Given the description of an element on the screen output the (x, y) to click on. 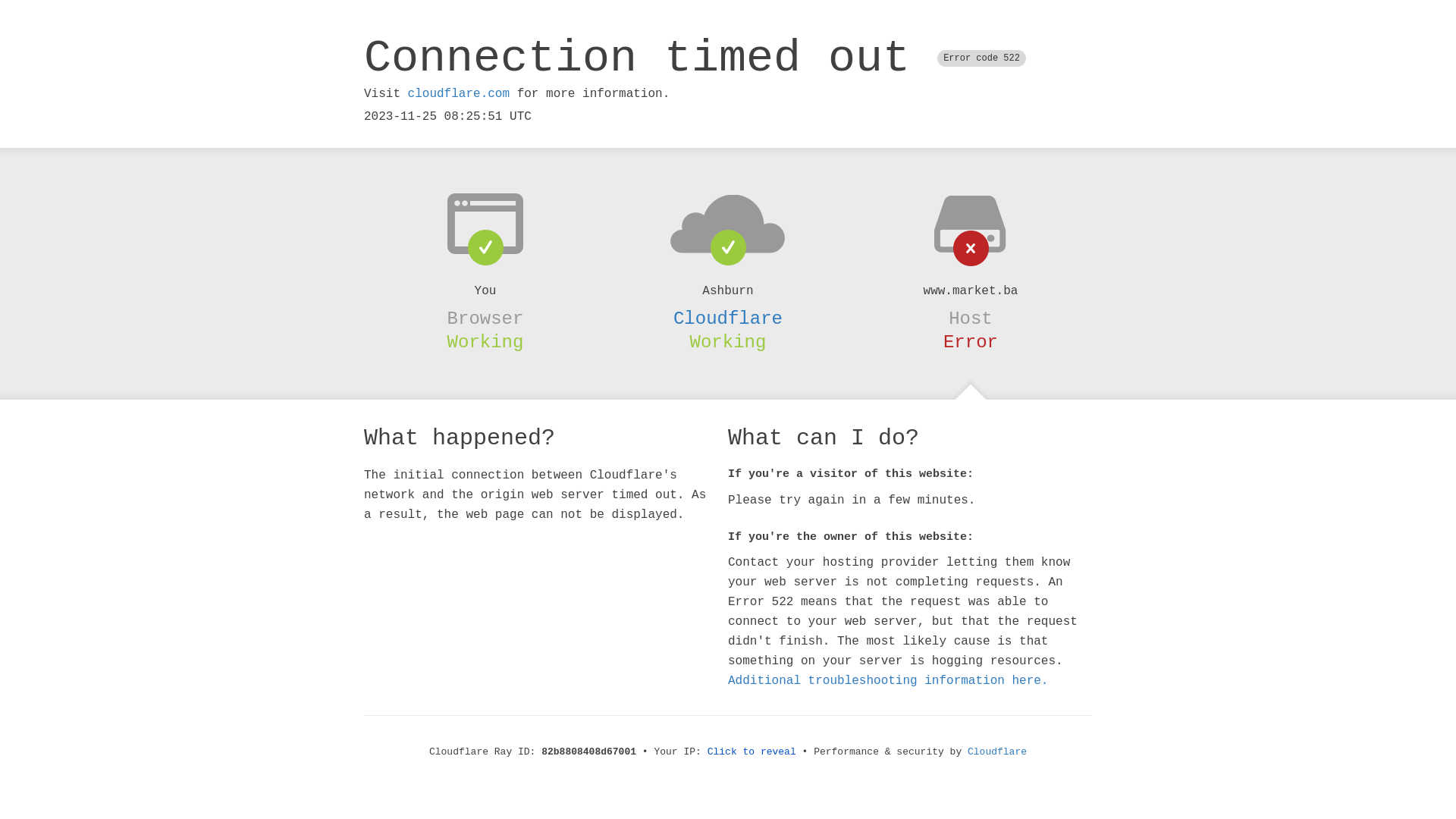
Click to reveal Element type: text (751, 751)
cloudflare.com Element type: text (458, 93)
Cloudflare Element type: text (996, 751)
Additional troubleshooting information here. Element type: text (888, 680)
Cloudflare Element type: text (727, 318)
